Given the description of an element on the screen output the (x, y) to click on. 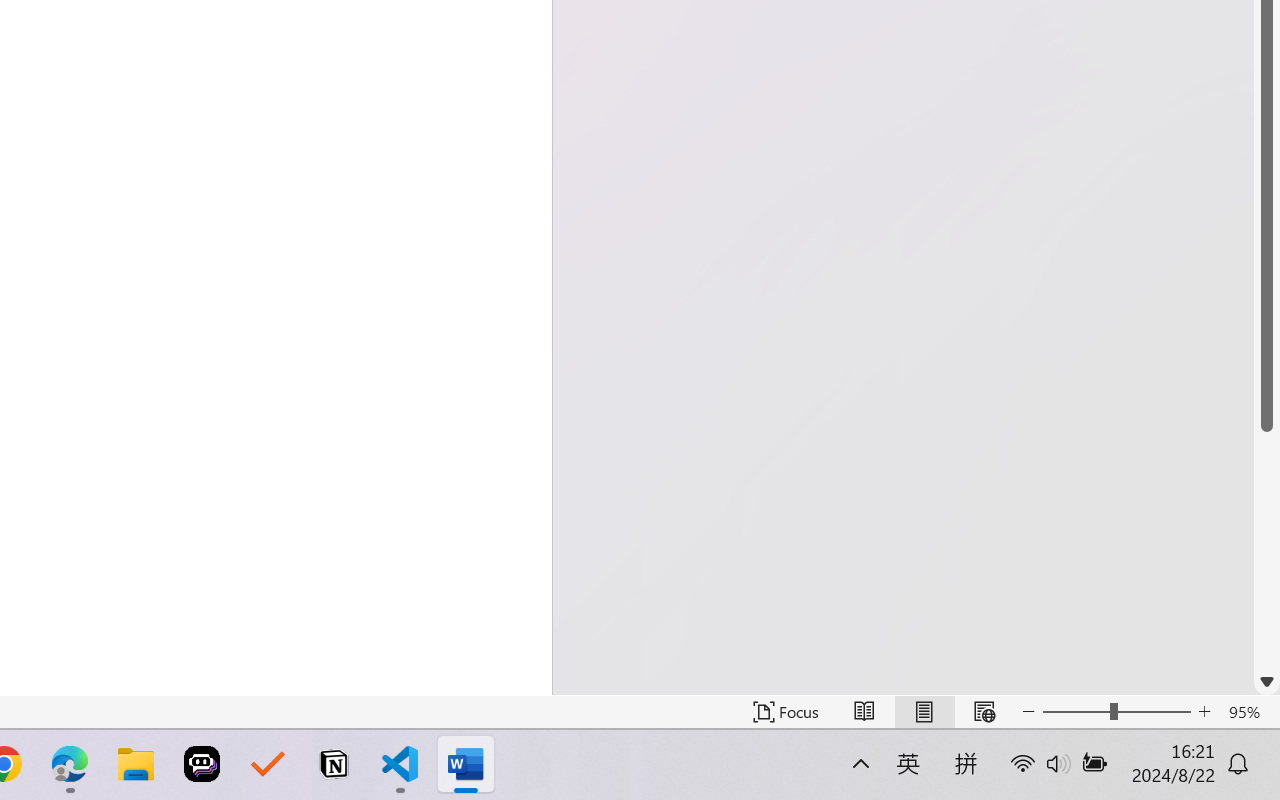
Line down (1267, 681)
Zoom 95% (1249, 712)
Page down (1267, 550)
